Given the description of an element on the screen output the (x, y) to click on. 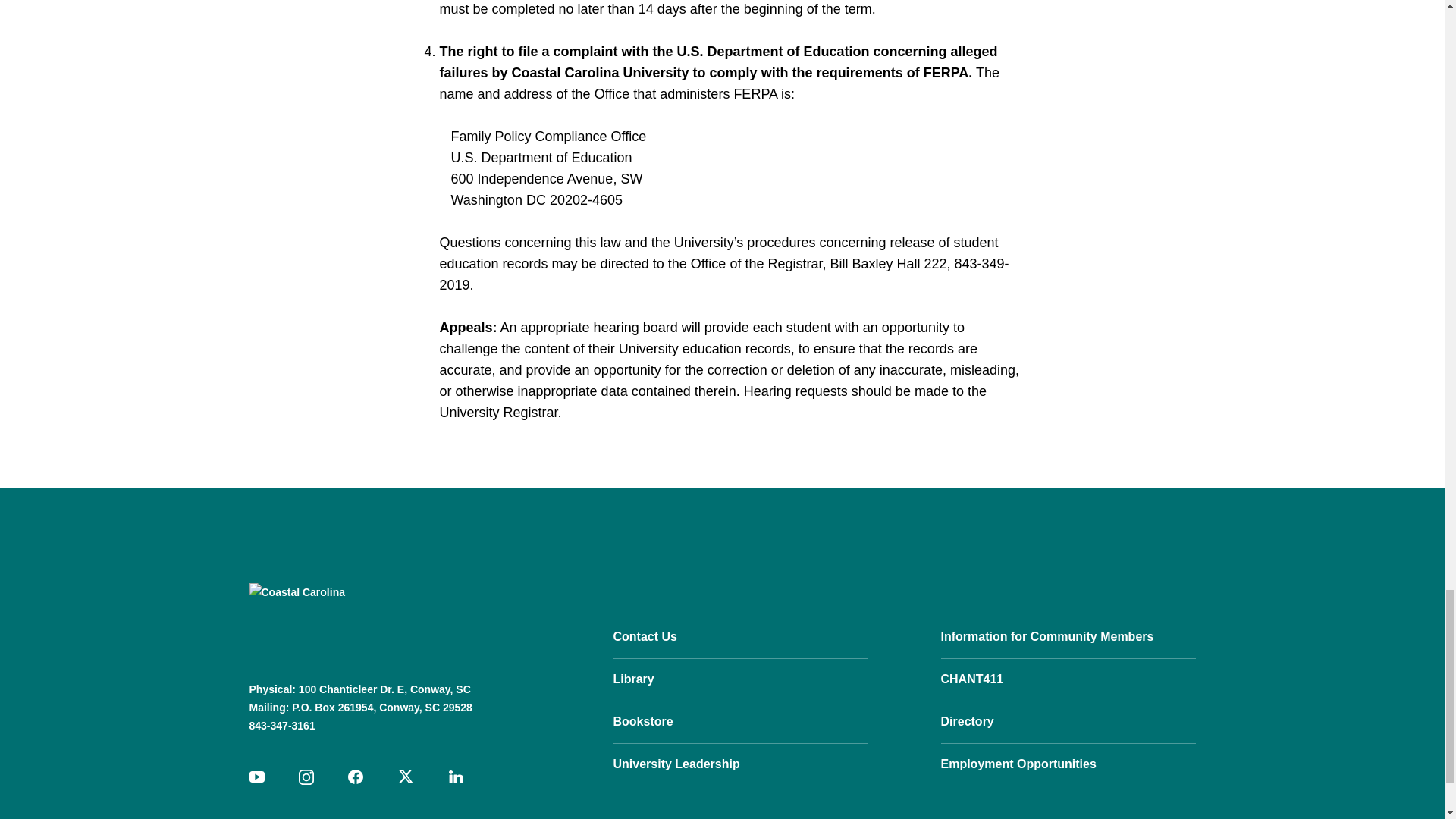
Link to CCU Bookstore (739, 721)
Coastal Carolina (344, 619)
Link to Coastal Carolina University Library (739, 680)
